Given the description of an element on the screen output the (x, y) to click on. 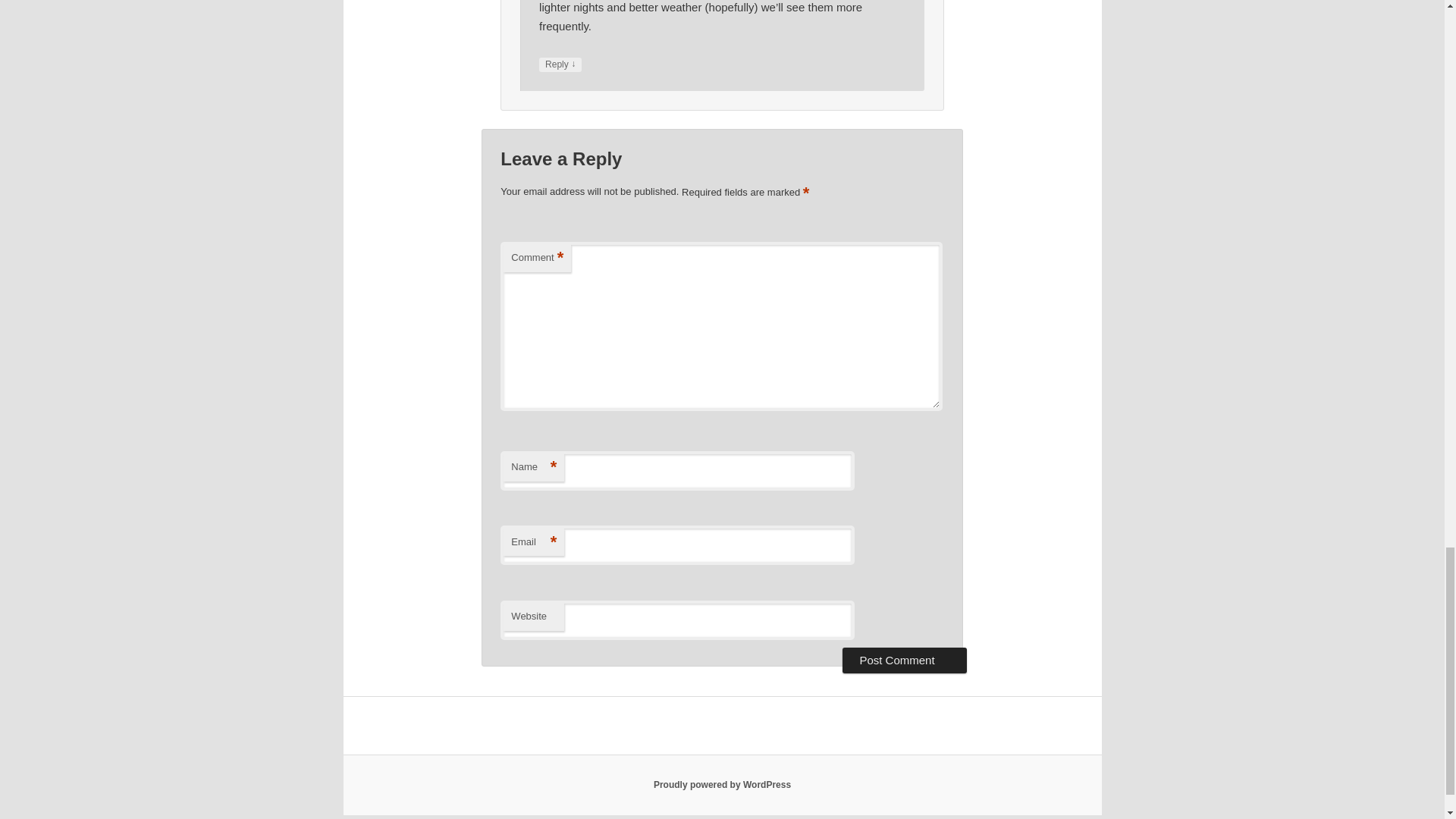
Post Comment (904, 660)
Proudly powered by WordPress (721, 784)
Semantic Personal Publishing Platform (721, 784)
Post Comment (904, 660)
